Given the description of an element on the screen output the (x, y) to click on. 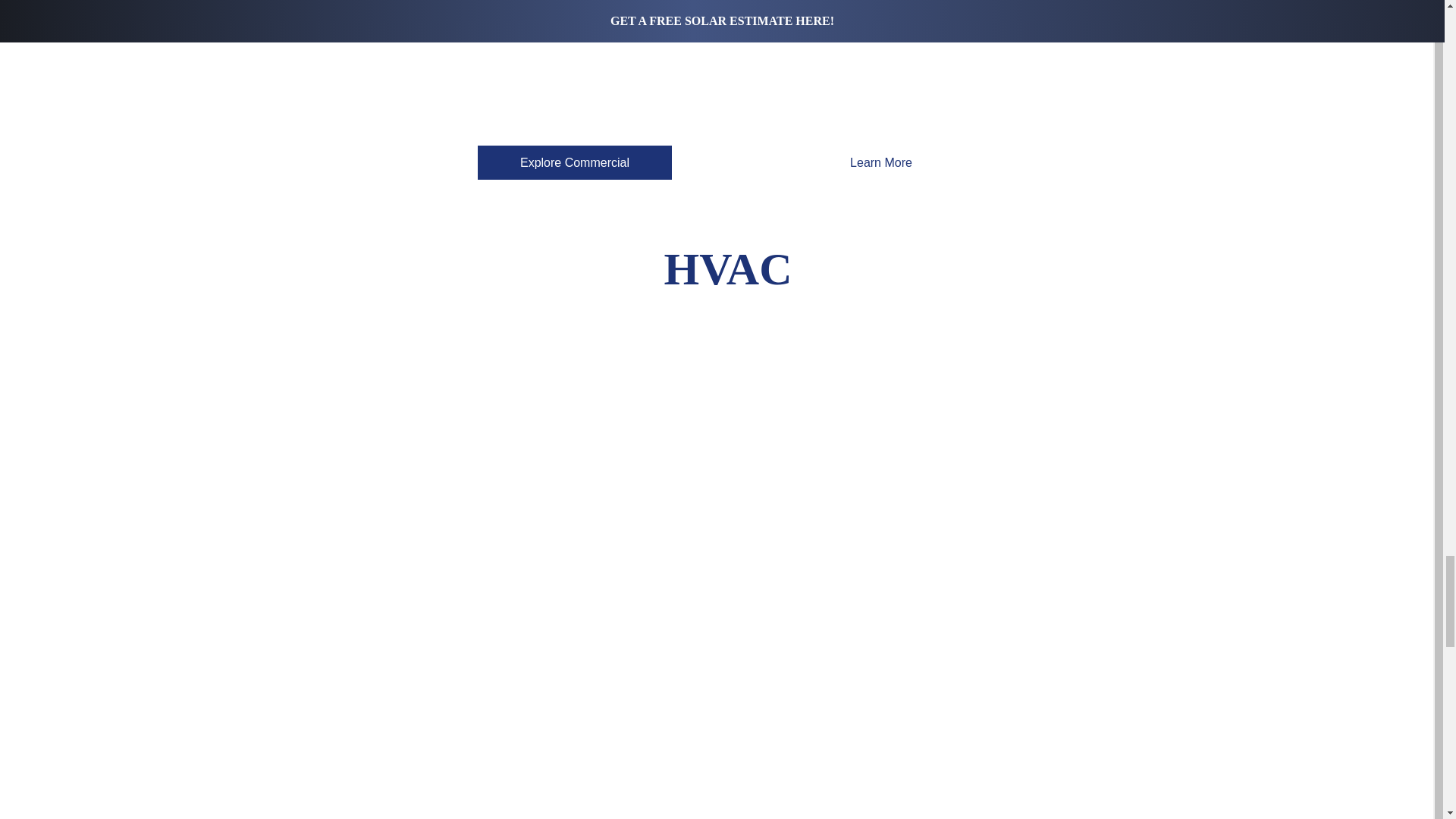
Learn More (881, 162)
Explore Commercial (574, 162)
